Given the description of an element on the screen output the (x, y) to click on. 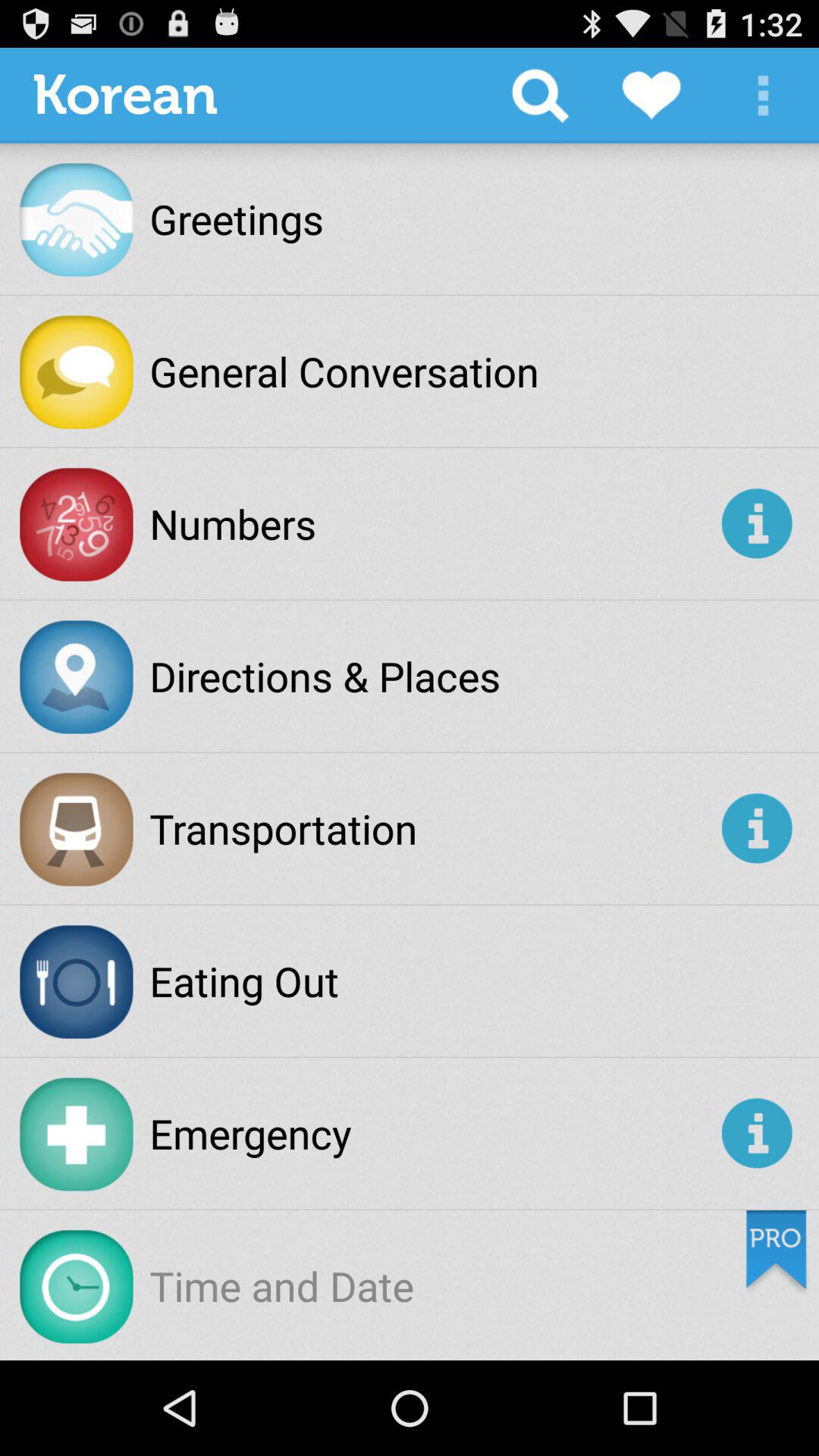
scroll until the general conversation app (344, 370)
